Given the description of an element on the screen output the (x, y) to click on. 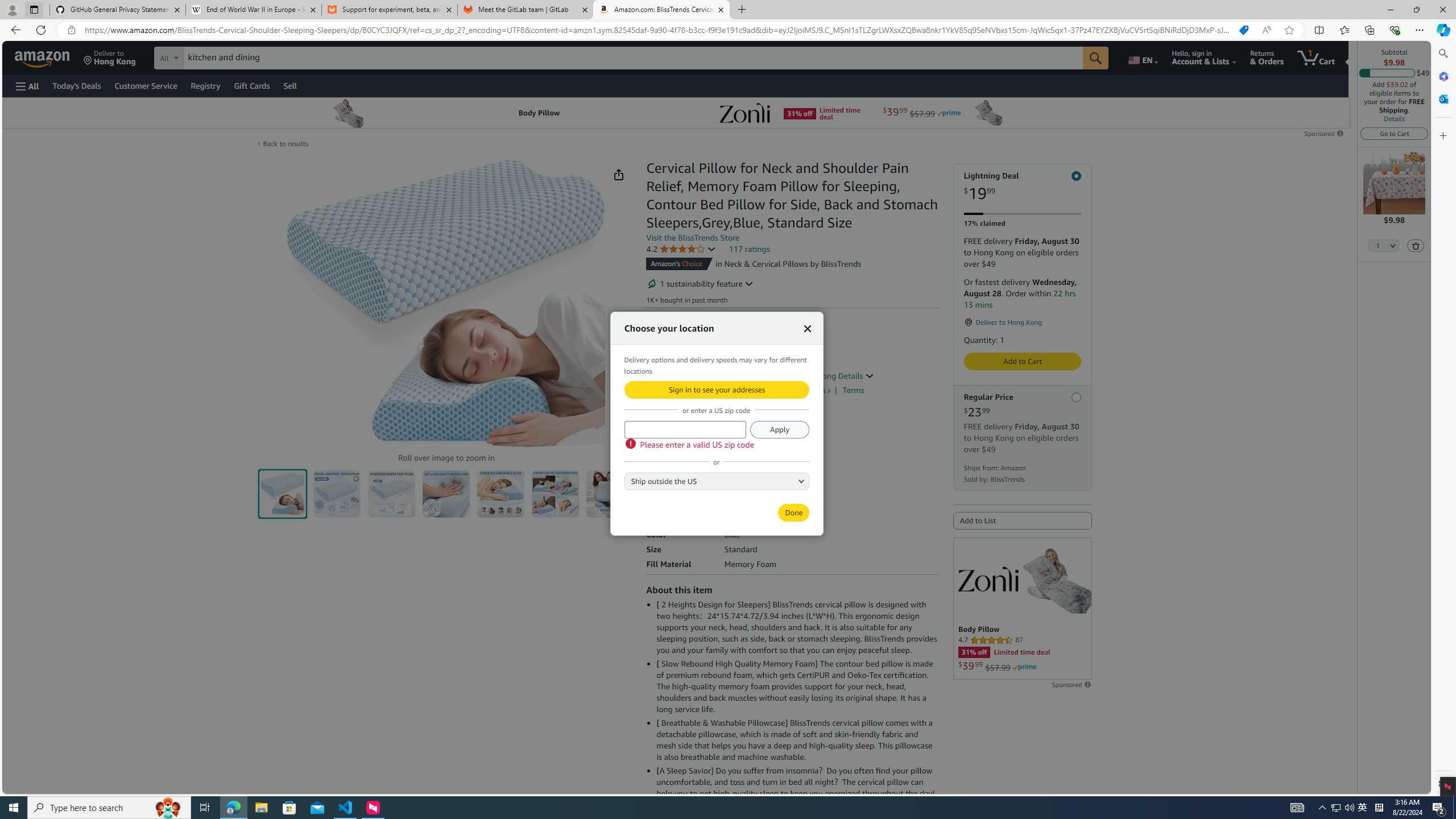
Add to Cart (1021, 360)
Standard (670, 479)
Queen (718, 479)
Lightning Deal $19.99 (1022, 186)
Hello, sign in Account & Lists (1203, 57)
Apply 20% coupon Shop items | Terms (696, 387)
